Given the description of an element on the screen output the (x, y) to click on. 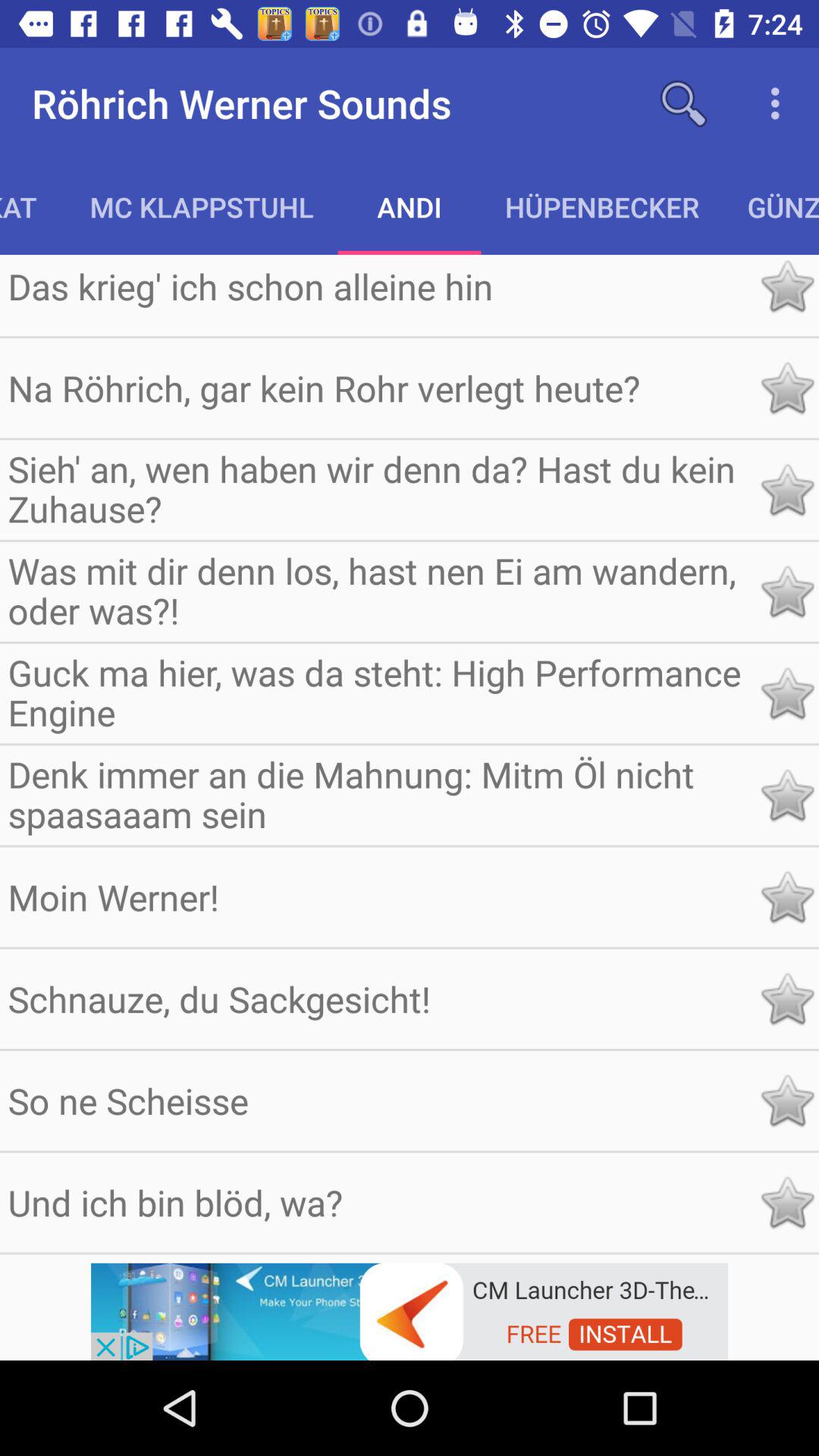
favorite this item (787, 998)
